Given the description of an element on the screen output the (x, y) to click on. 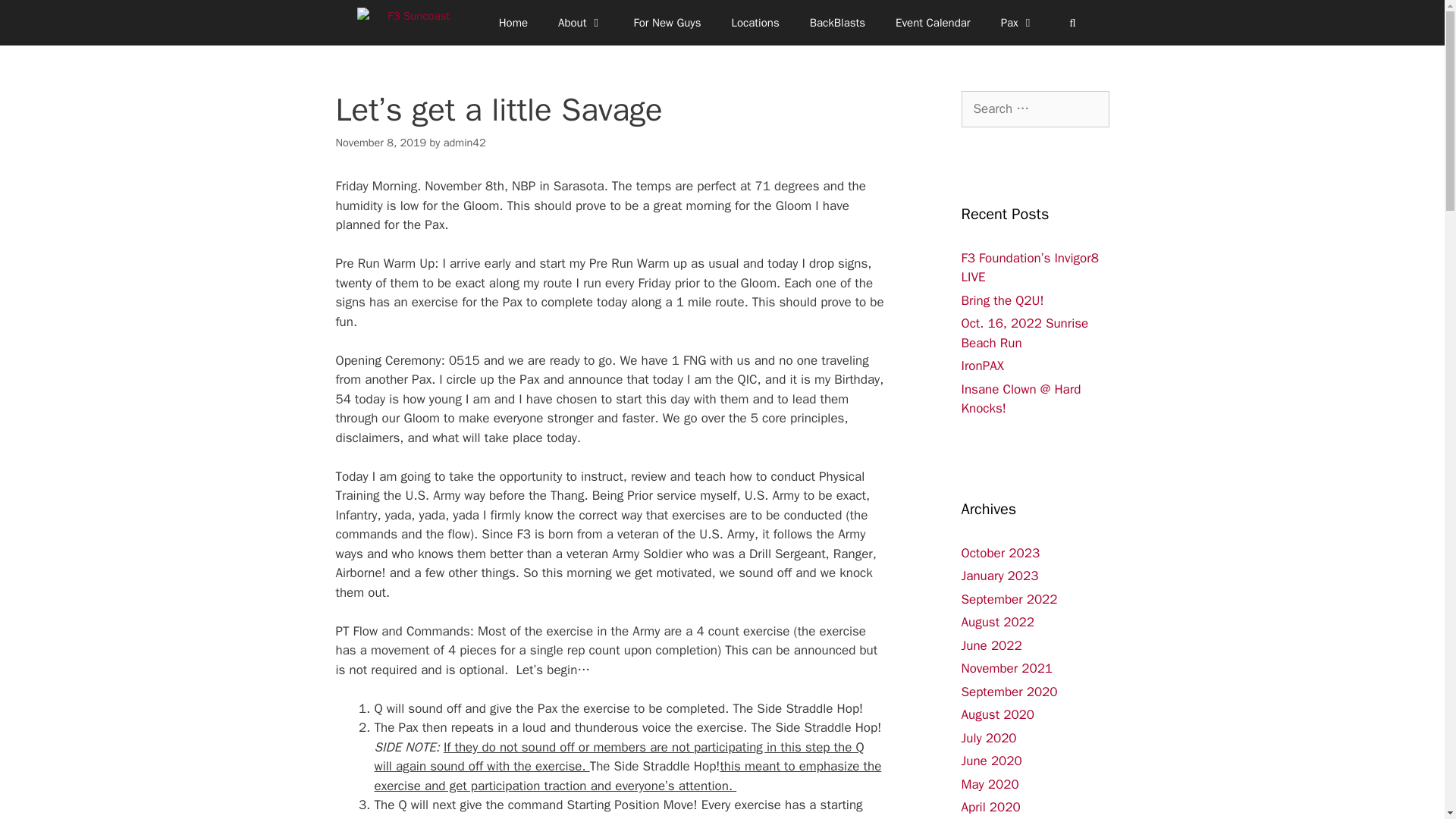
For New Guys (666, 22)
About (580, 22)
Locations (754, 22)
BackBlasts (837, 22)
admin42 (465, 142)
Search for: (1034, 108)
View all posts by admin42 (465, 142)
F3 Suncoast (416, 22)
Home (513, 22)
Pax (1017, 22)
